Given the description of an element on the screen output the (x, y) to click on. 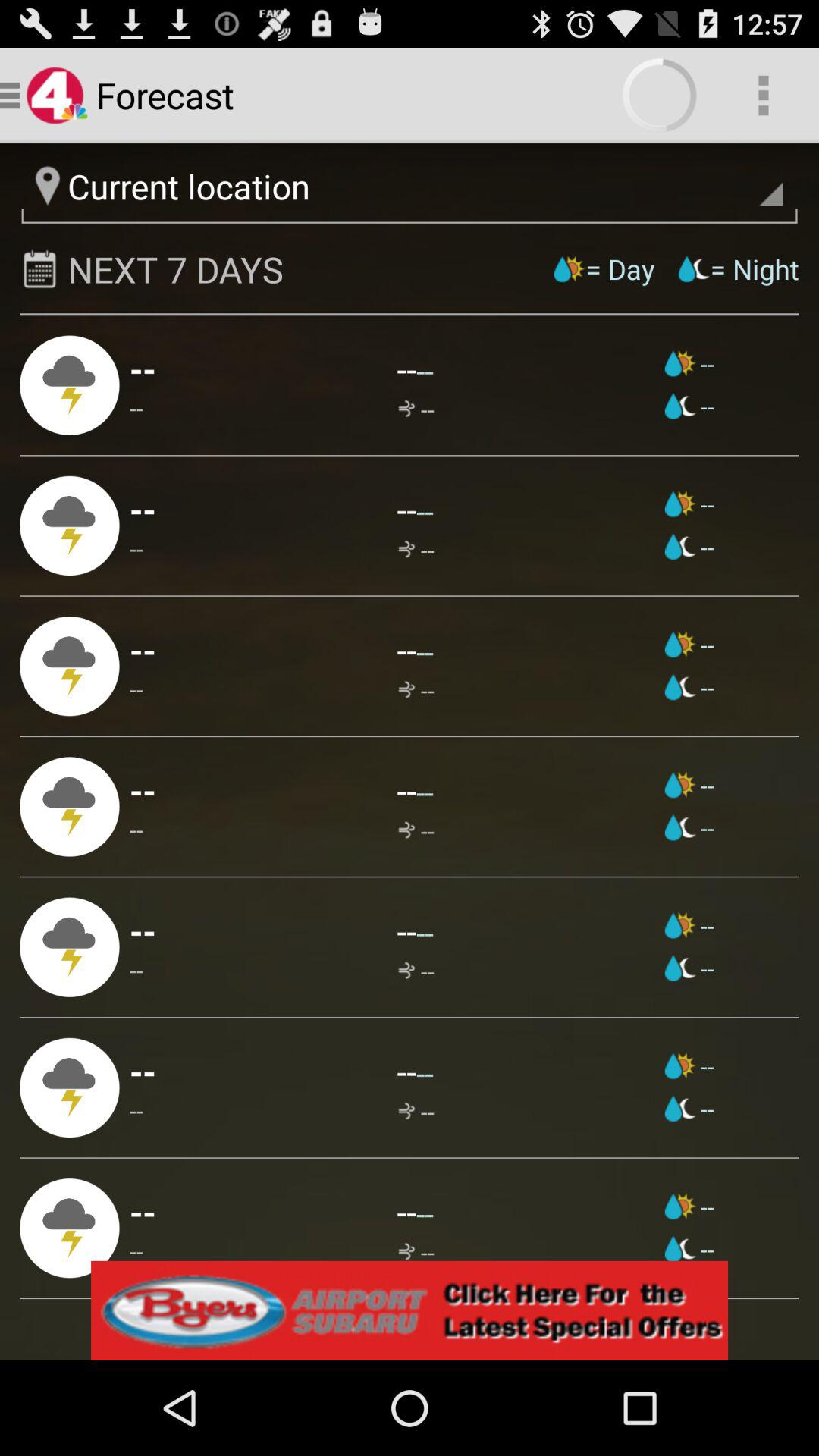
launch app next to -- app (415, 549)
